Given the description of an element on the screen output the (x, y) to click on. 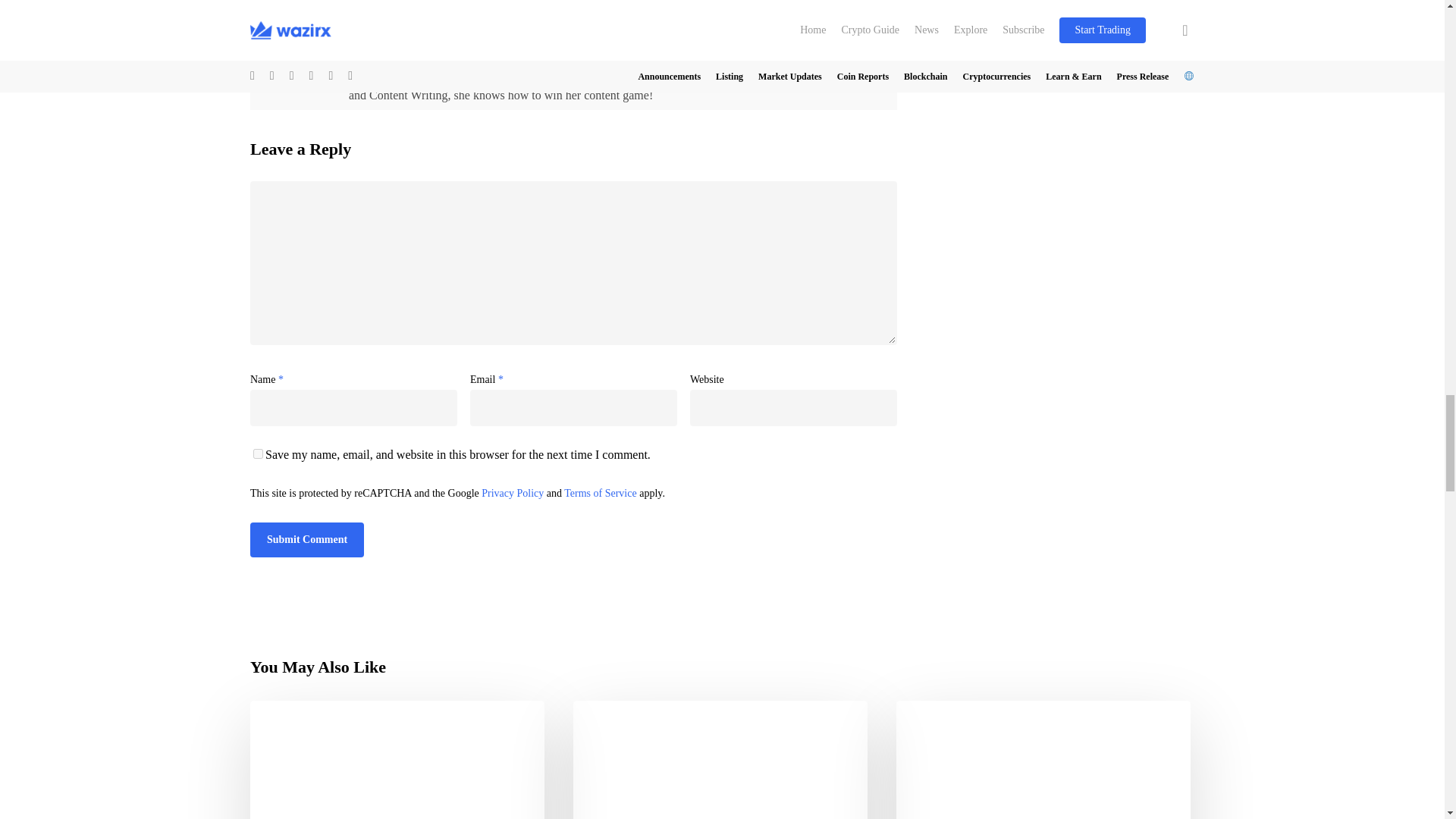
Submit Comment (307, 539)
yes (258, 453)
